Given the description of an element on the screen output the (x, y) to click on. 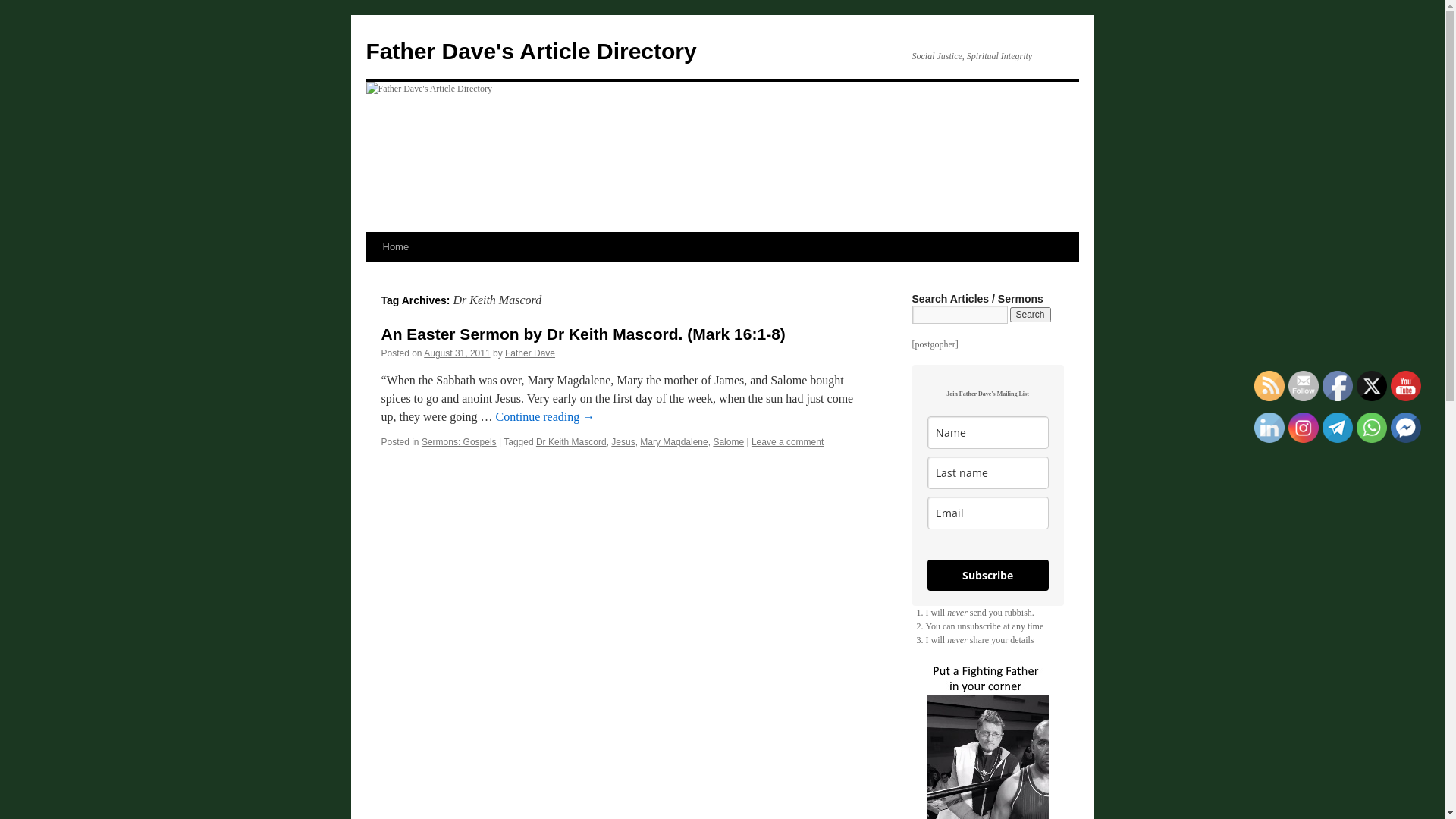
Dr Keith Mascord Element type: text (571, 441)
An Easter Sermon by Dr Keith Mascord. (Mark 16:1-8) Element type: text (582, 333)
Mary Magdalene Element type: text (673, 441)
Leave a comment Element type: text (787, 441)
Skip to content Element type: text (372, 275)
Sermons: Gospels Element type: text (458, 441)
Facebook Element type: hover (1337, 385)
August 31, 2011 Element type: text (456, 353)
Home Element type: text (395, 246)
LinkedIn Element type: hover (1269, 427)
Jesus Element type: text (622, 441)
Instagram Element type: hover (1303, 427)
Telegram Element type: hover (1337, 427)
Subscribe Element type: text (987, 574)
Father Dave Element type: text (530, 353)
WhatsApp Element type: hover (1371, 427)
Twitter Element type: hover (1371, 385)
YouTube Element type: hover (1405, 385)
Salome Element type: text (727, 441)
Search Element type: text (1030, 314)
RSS Element type: hover (1269, 385)
Father Dave's Article Directory Element type: text (530, 50)
